Given the description of an element on the screen output the (x, y) to click on. 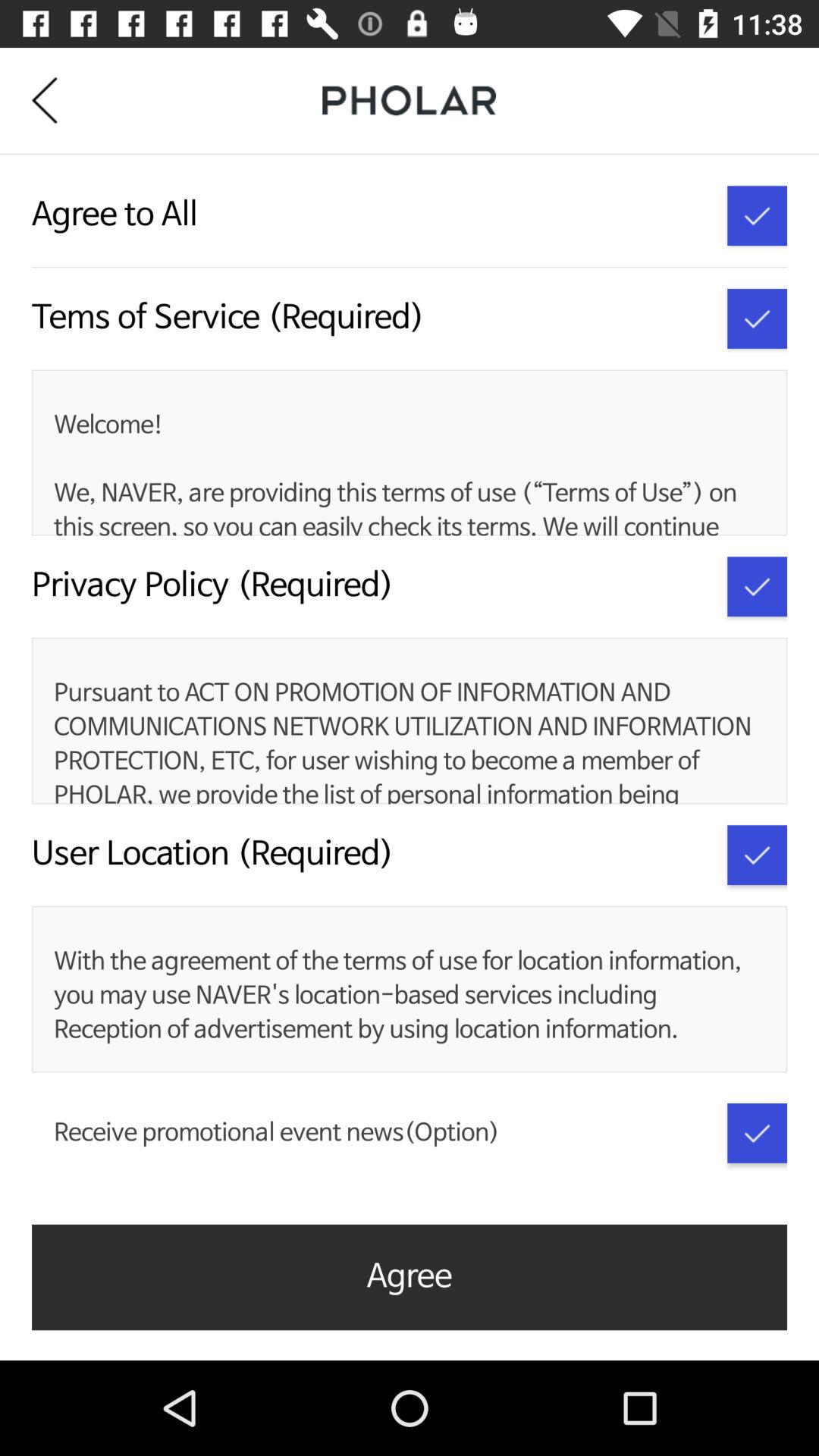
accepted terms of service (757, 318)
